Given the description of an element on the screen output the (x, y) to click on. 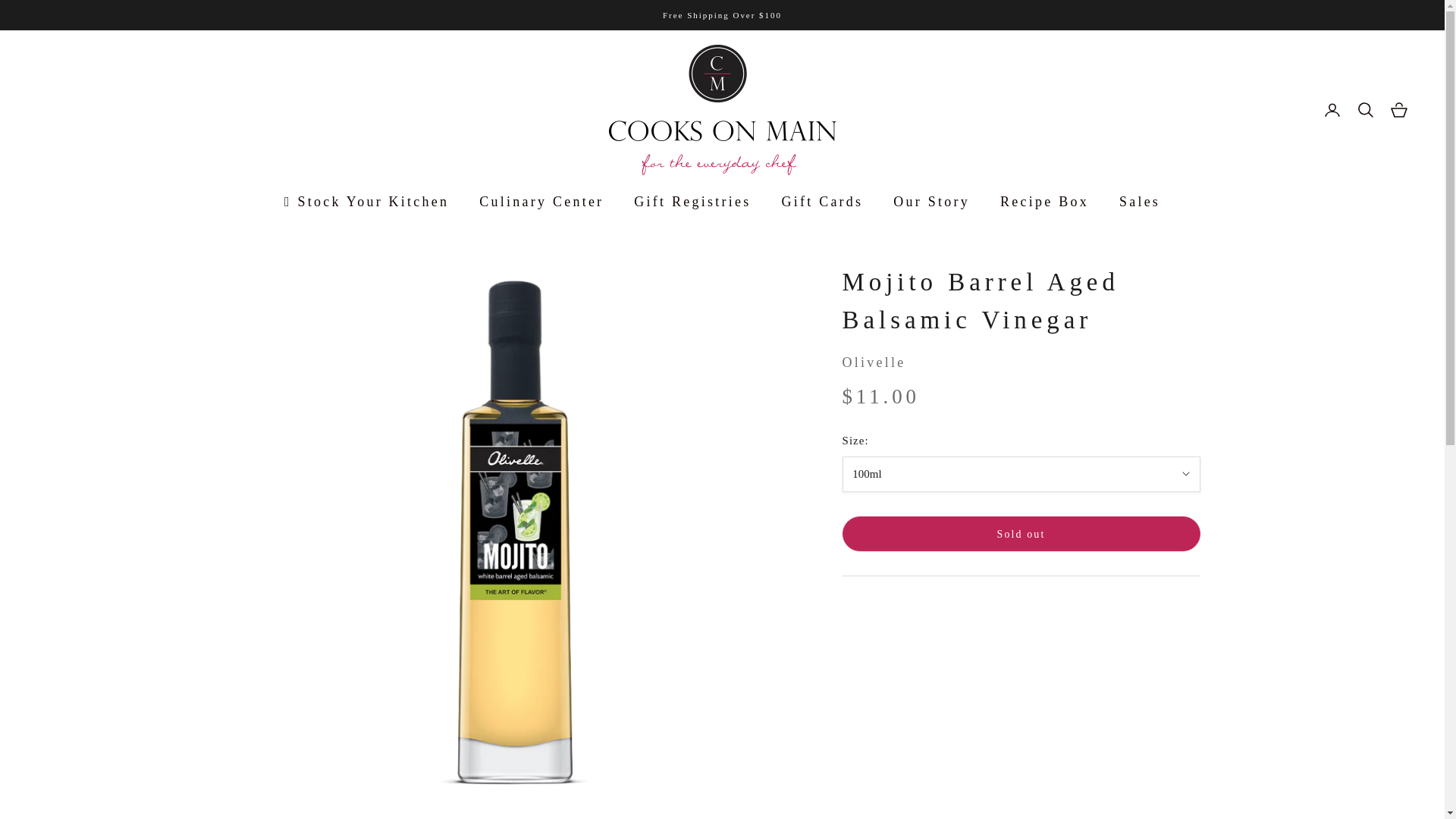
Cooks on Main (721, 110)
